Given the description of an element on the screen output the (x, y) to click on. 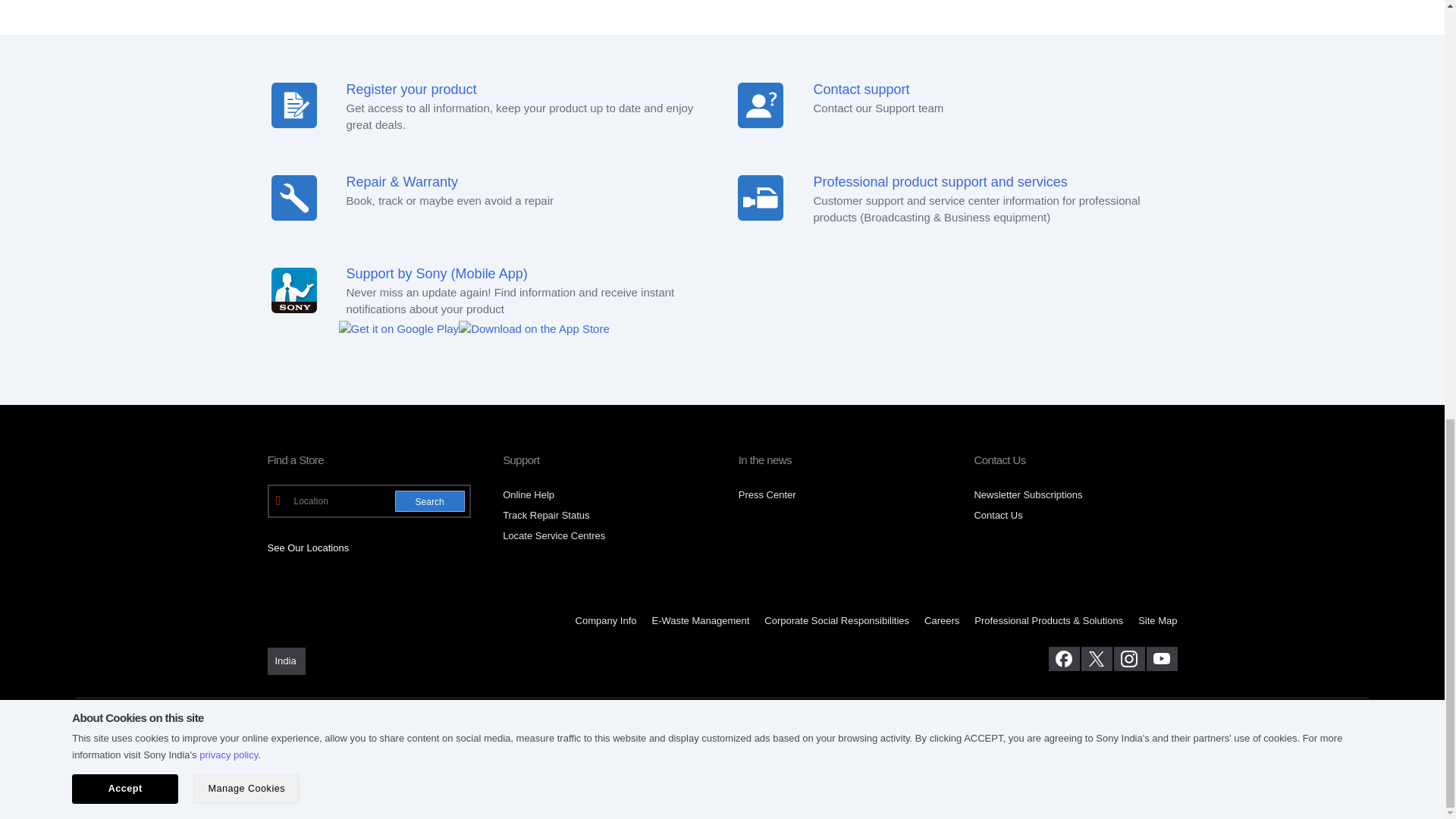
nntnnnttnn (760, 197)
